Given the description of an element on the screen output the (x, y) to click on. 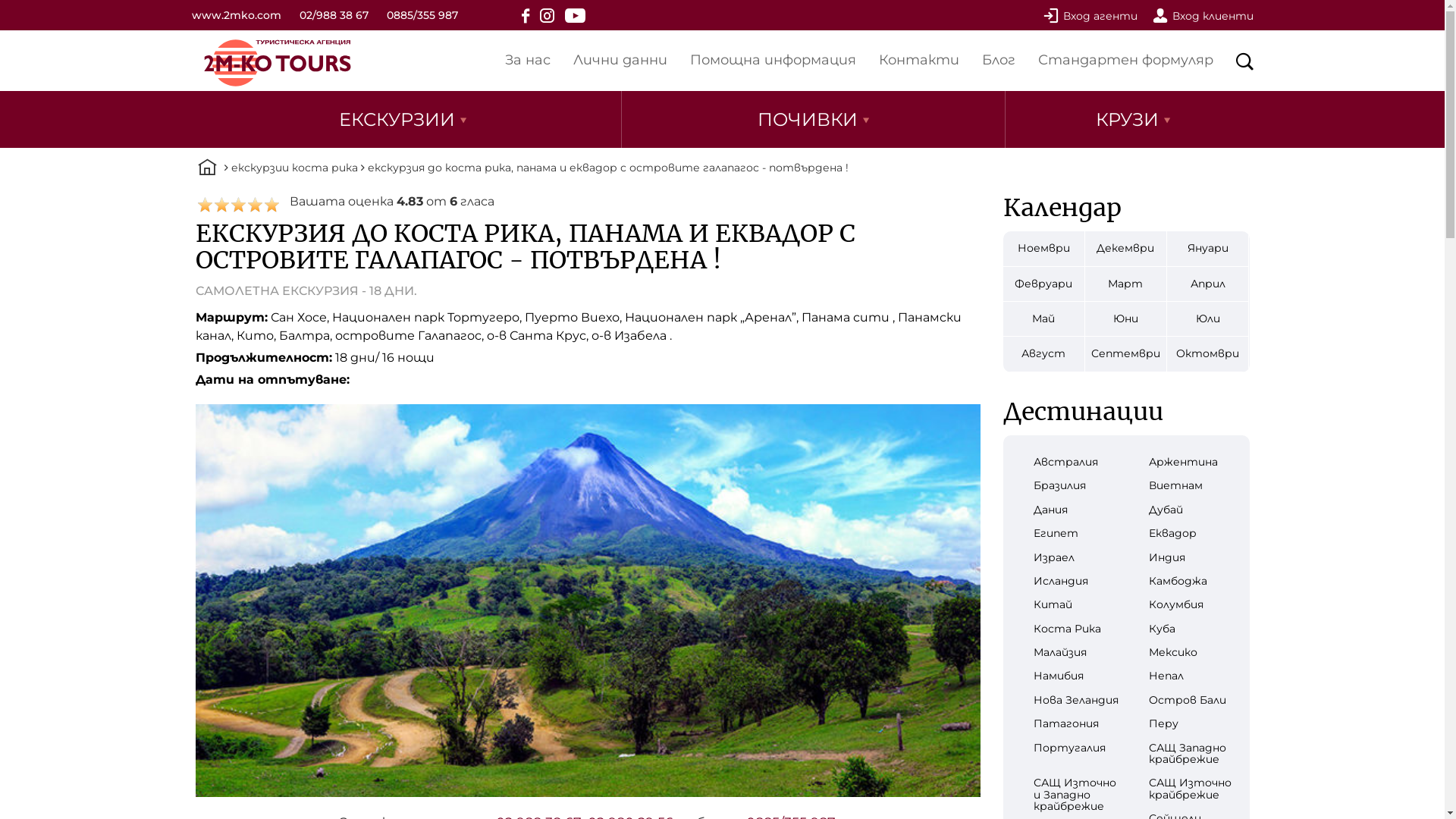
0885/355 987 Element type: text (422, 15)
facebook Element type: hover (525, 14)
www.2mko.com Element type: text (235, 15)
instagram Element type: hover (546, 14)
youtube Element type: hover (574, 14)
02/988 38 67 Element type: text (332, 15)
